Given the description of an element on the screen output the (x, y) to click on. 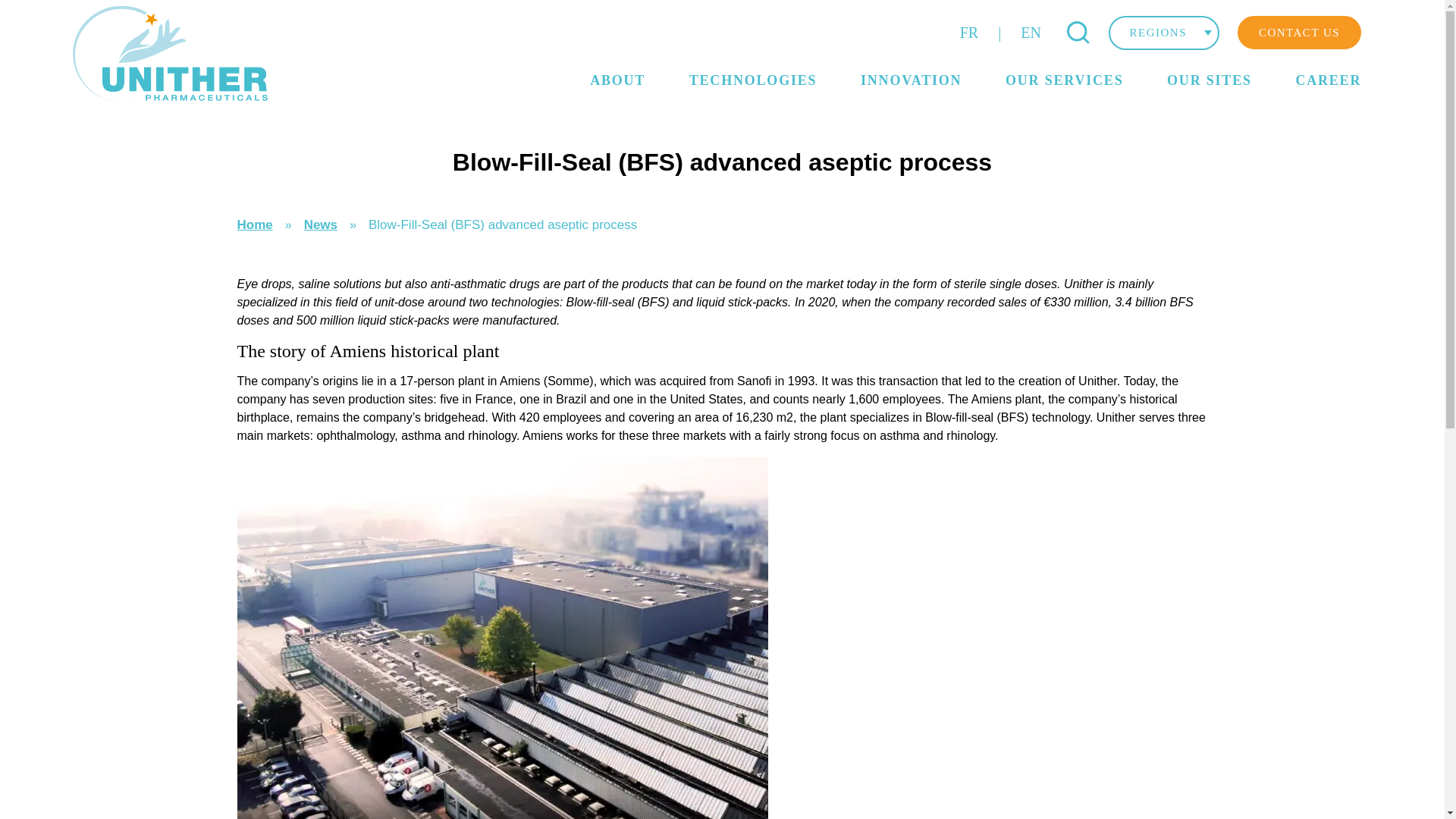
OUR SITES (1209, 80)
News (320, 224)
REGIONS (1164, 32)
TECHNOLOGIES (752, 80)
CONTACT US (1299, 32)
INNOVATION (910, 80)
OUR SERVICES (1065, 80)
EN (1030, 32)
FR (968, 32)
Home (253, 224)
